Given the description of an element on the screen output the (x, y) to click on. 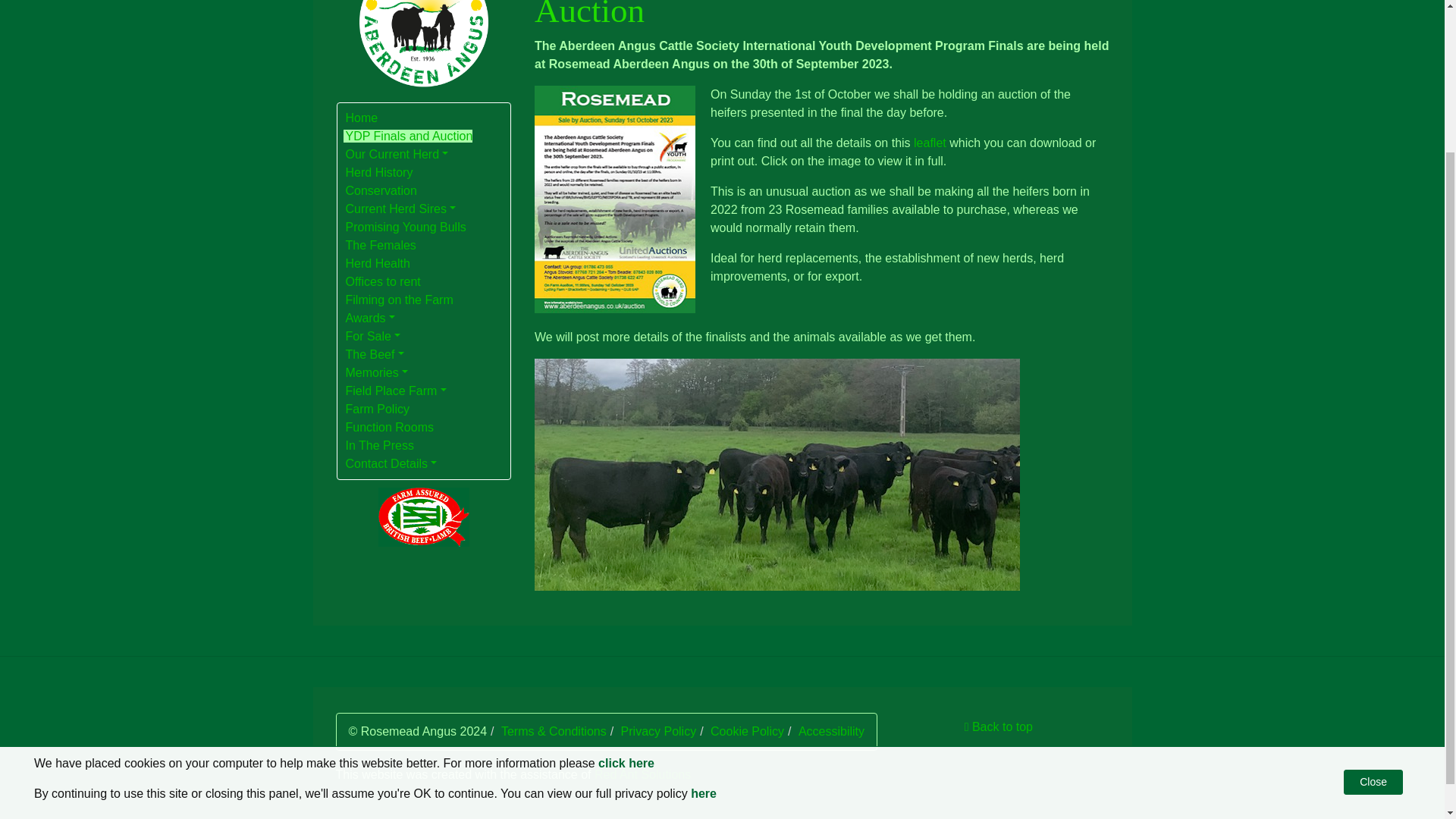
Herd Health (375, 262)
Offices to rent (381, 280)
Current Herd Sires (398, 207)
Home (359, 116)
The Females (378, 244)
Awards (368, 317)
Promising Young Bulls (403, 226)
Filming on the Farm (397, 298)
YDP Finals and Auction (406, 134)
Conservation (379, 189)
Herd History (377, 171)
Our Current Herd (395, 153)
